Given the description of an element on the screen output the (x, y) to click on. 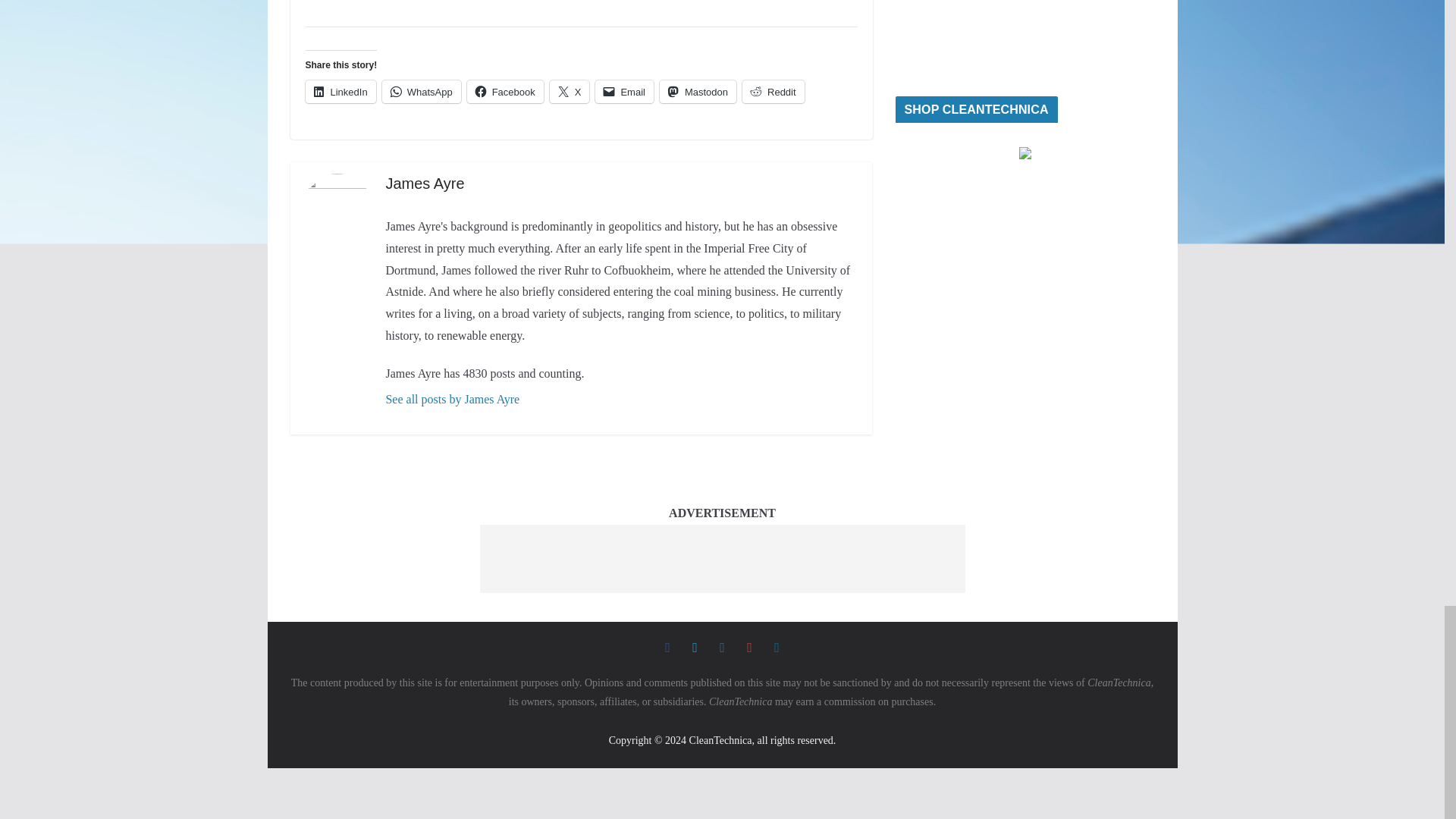
Click to share on Mastodon (697, 91)
Click to share on Facebook (505, 91)
Click to share on WhatsApp (421, 91)
Click to share on Reddit (773, 91)
Click to share on LinkedIn (339, 91)
Click to email a link to a friend (624, 91)
Click to share on X (569, 91)
